Given the description of an element on the screen output the (x, y) to click on. 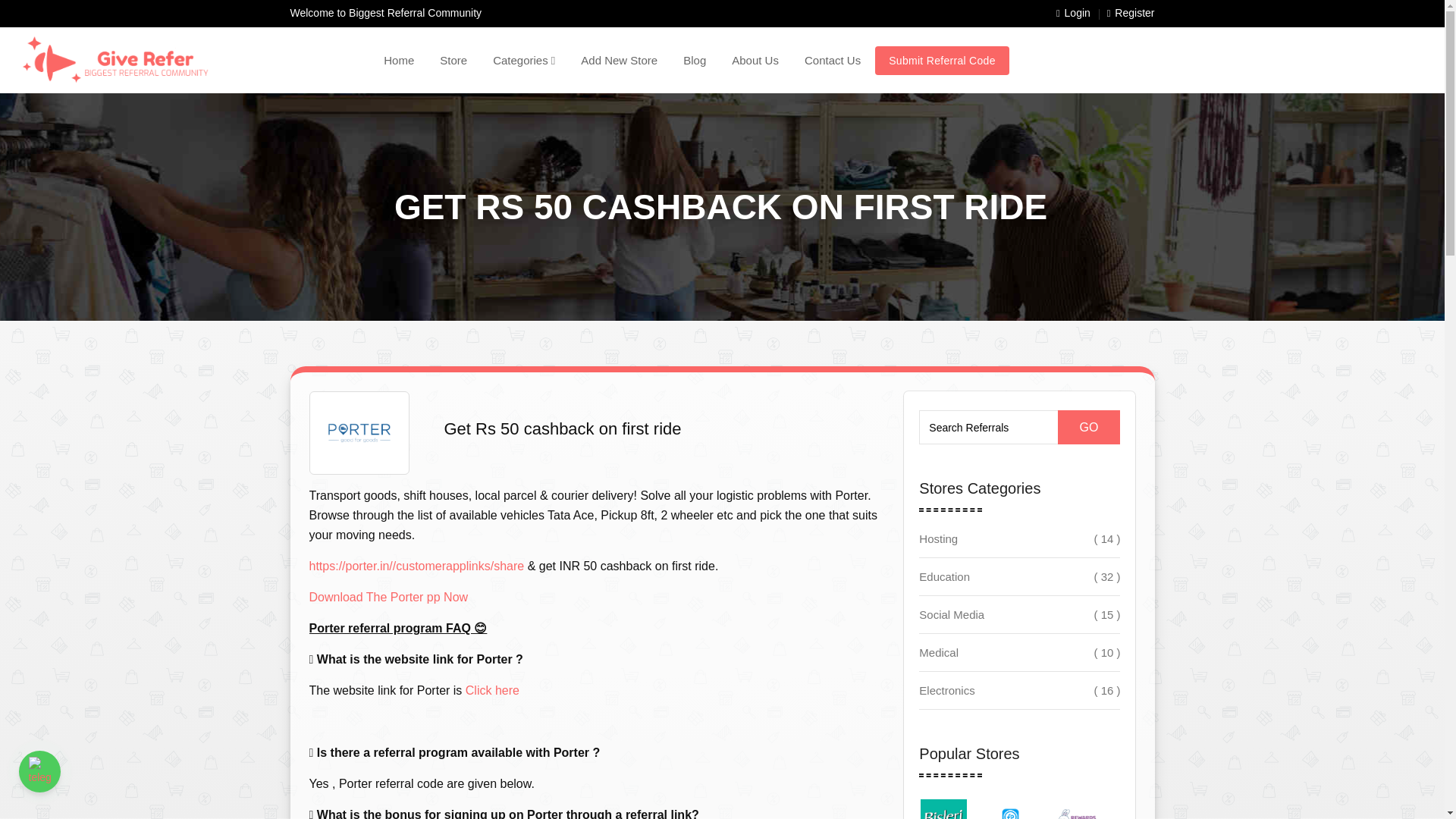
Contact Us (832, 60)
Click here (492, 689)
Login (1073, 13)
Categories (523, 60)
Register (1130, 13)
About Us (755, 60)
Download The Porter pp Now (388, 596)
Add New Store (618, 60)
Submit Referral Code (942, 60)
